Given the description of an element on the screen output the (x, y) to click on. 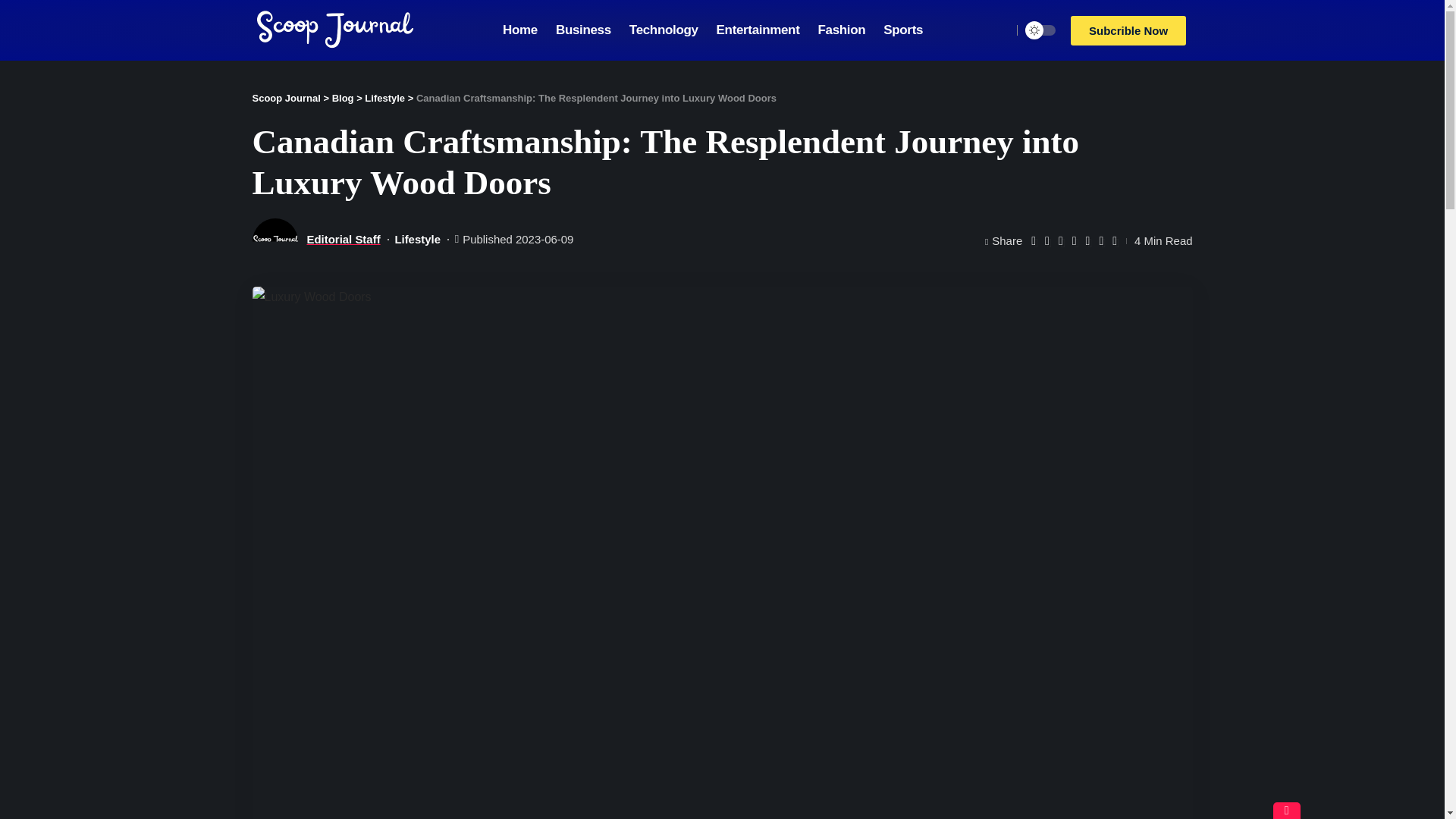
Lifestyle (417, 239)
Lifestyle (384, 98)
Technology (663, 30)
Entertainment (758, 30)
Fashion (841, 30)
Business (583, 30)
Go to Blog. (342, 98)
Sports (903, 30)
Editorial Staff (342, 239)
Go to Scoop Journal. (285, 98)
Subcrible Now (1128, 30)
Blog (342, 98)
Go to the Lifestyle Category archives. (384, 98)
Scoop Journal (285, 98)
